Given the description of an element on the screen output the (x, y) to click on. 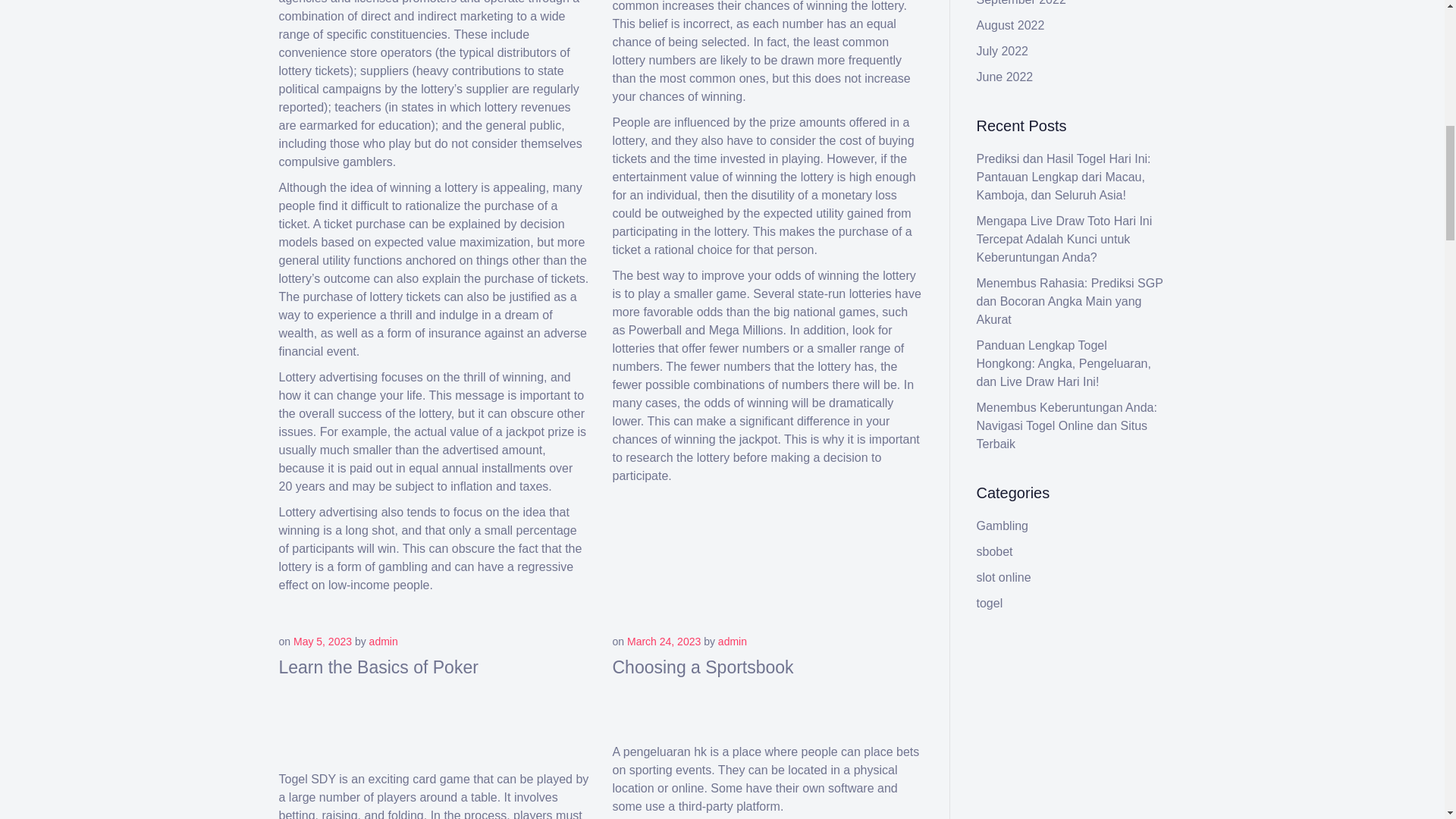
March 24, 2023 (663, 641)
Choosing a Sportsbook (702, 667)
May 5, 2023 (323, 641)
admin (383, 641)
Togel SDY (307, 779)
pengeluaran hk (664, 751)
Learn the Basics of Poker (379, 667)
admin (731, 641)
